Given the description of an element on the screen output the (x, y) to click on. 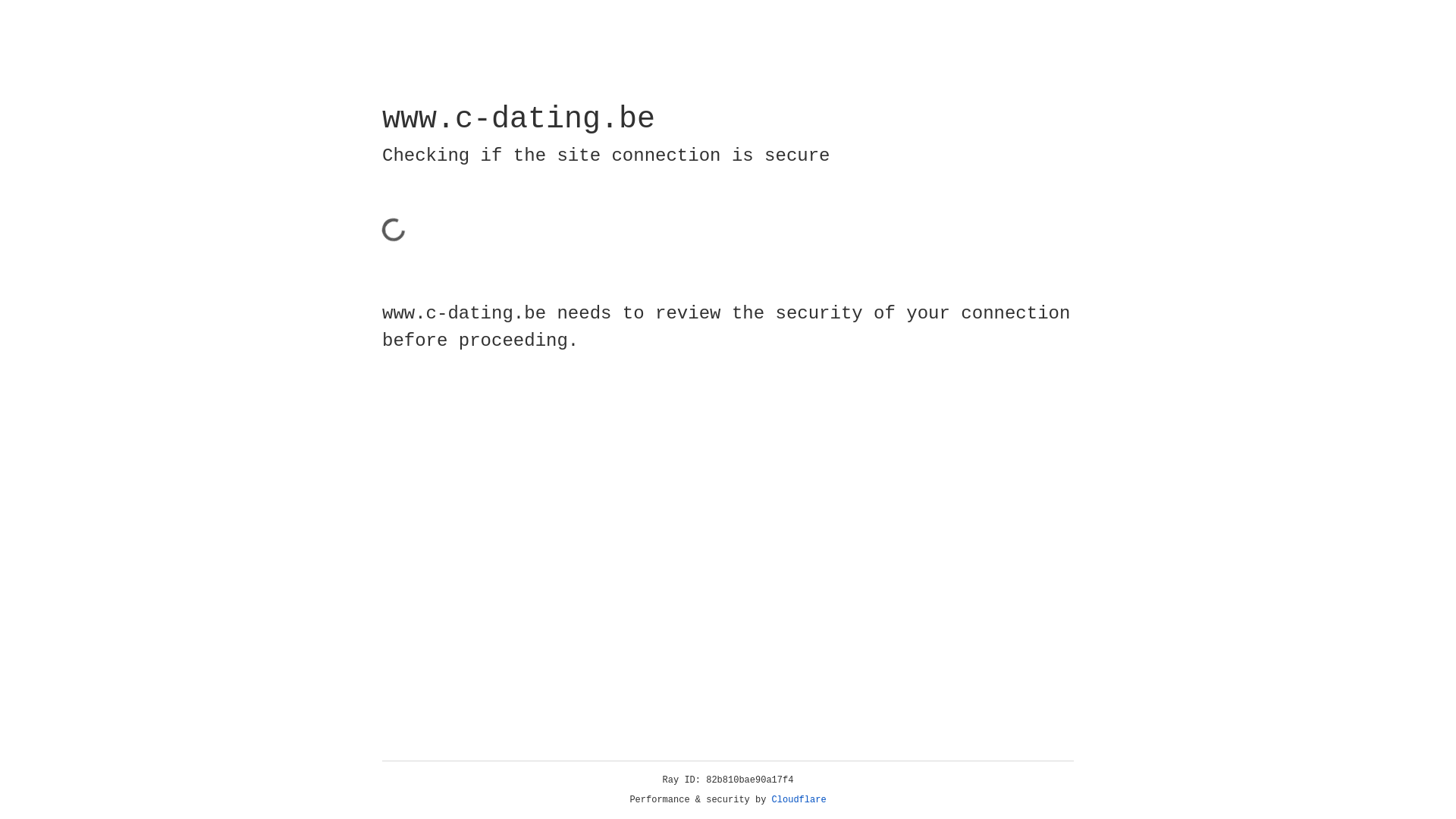
Cloudflare Element type: text (798, 799)
